Given the description of an element on the screen output the (x, y) to click on. 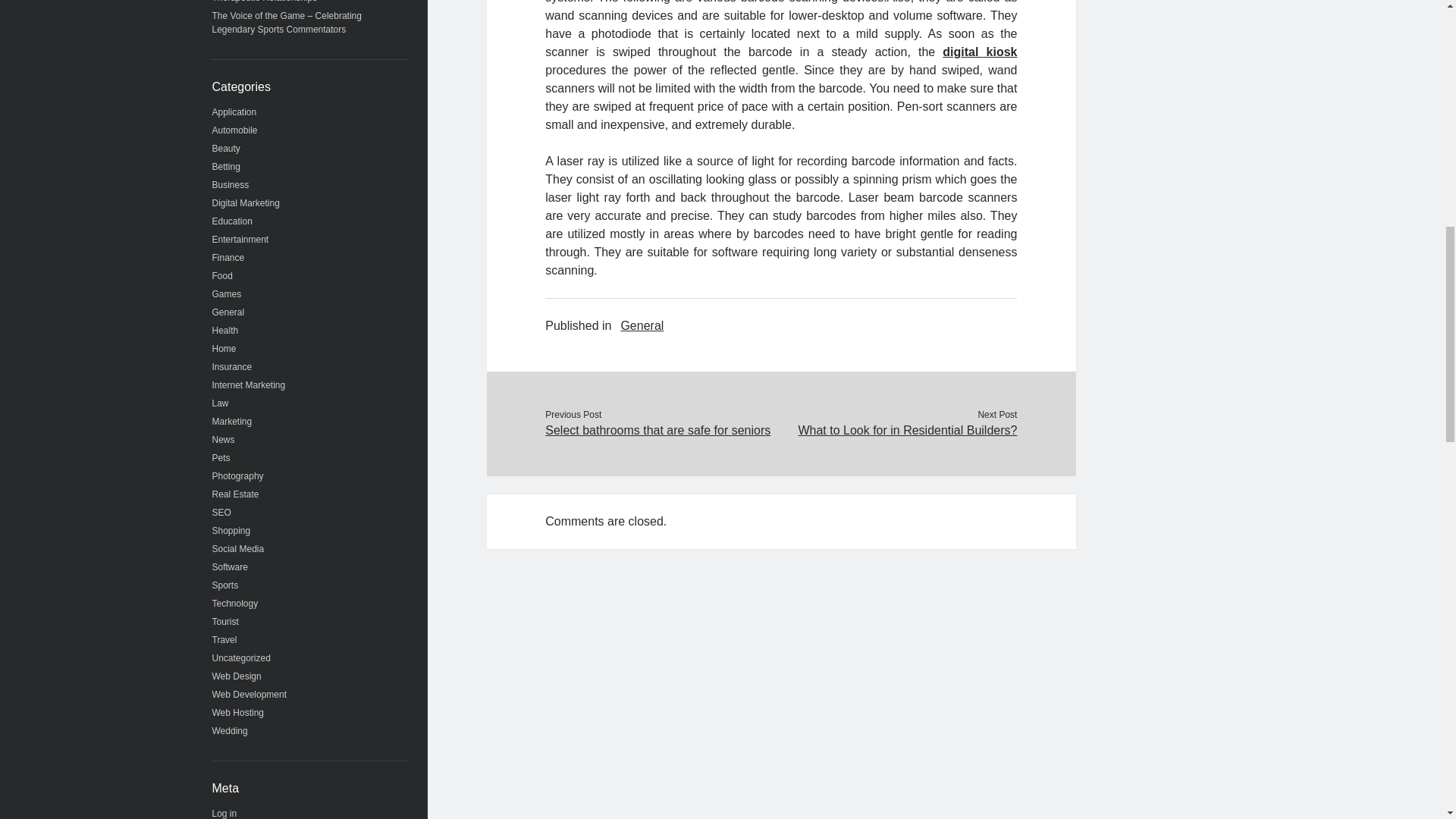
Automobile (234, 130)
Sports (225, 584)
View all posts in General (641, 325)
Betting (226, 166)
Business (230, 184)
Education (231, 221)
Shopping (231, 530)
Technology (235, 603)
Application (234, 112)
